Given the description of an element on the screen output the (x, y) to click on. 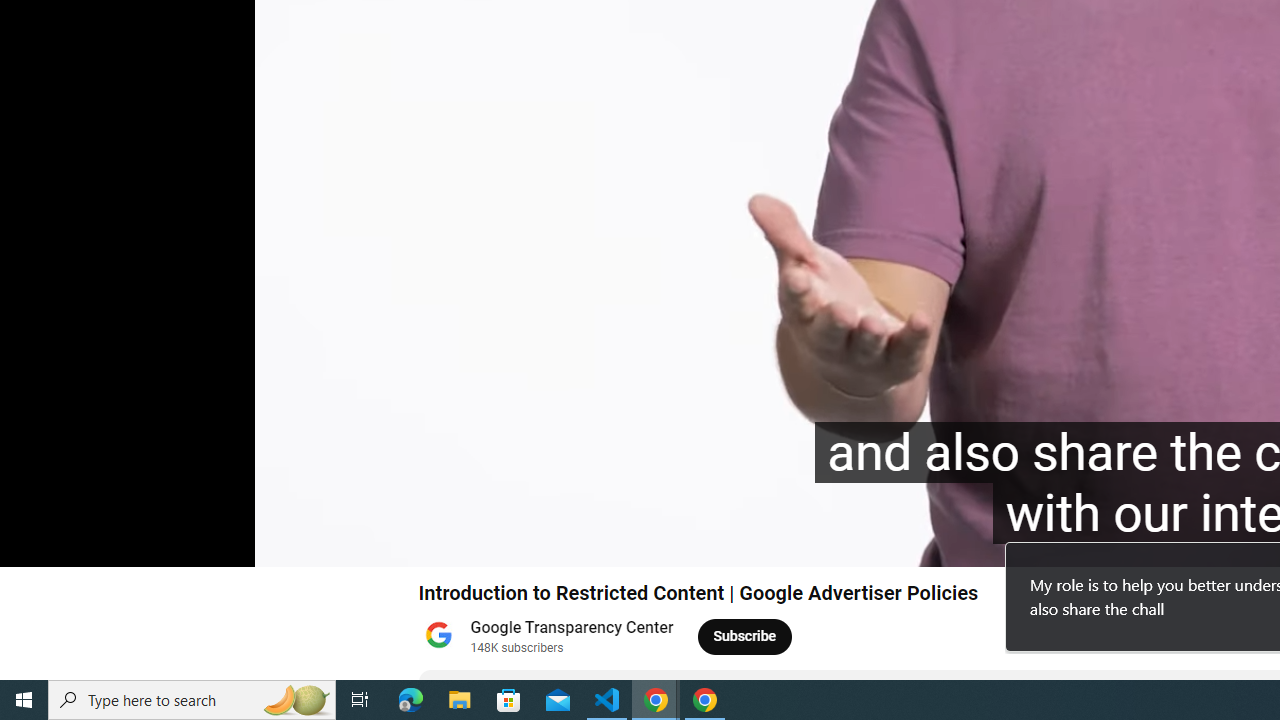
Google Transparency Center (572, 627)
Next (SHIFT+n) (81, 543)
Mute (m) (129, 543)
Subscribe to Google Transparency Center. (745, 636)
Play (k) (34, 543)
